Given the description of an element on the screen output the (x, y) to click on. 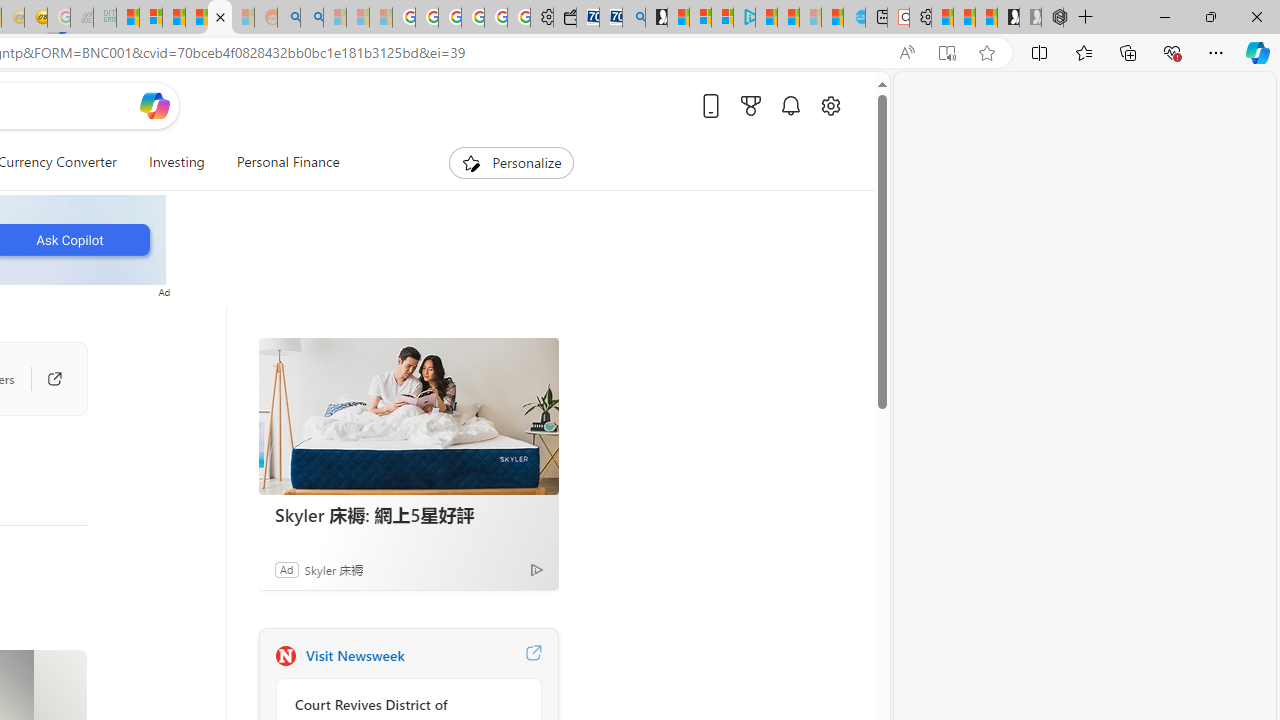
Navy Quest (81, 17)
Cheap Car Rentals - Save70.com (611, 17)
Personal Finance (280, 162)
